Given the description of an element on the screen output the (x, y) to click on. 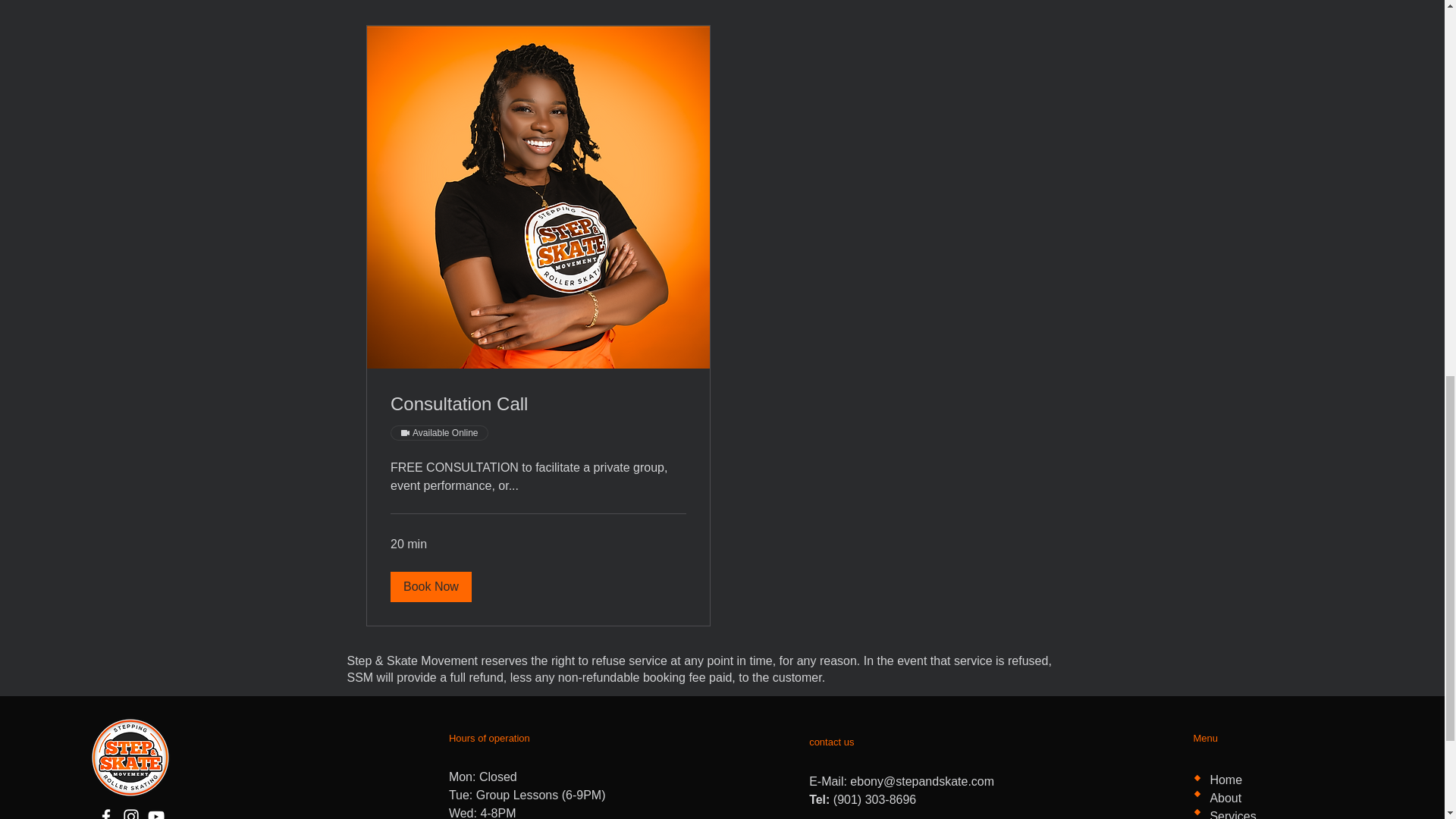
Services (1232, 814)
About (1225, 797)
Home (1225, 779)
Book Now (430, 586)
Consultation Call (537, 404)
